Given the description of an element on the screen output the (x, y) to click on. 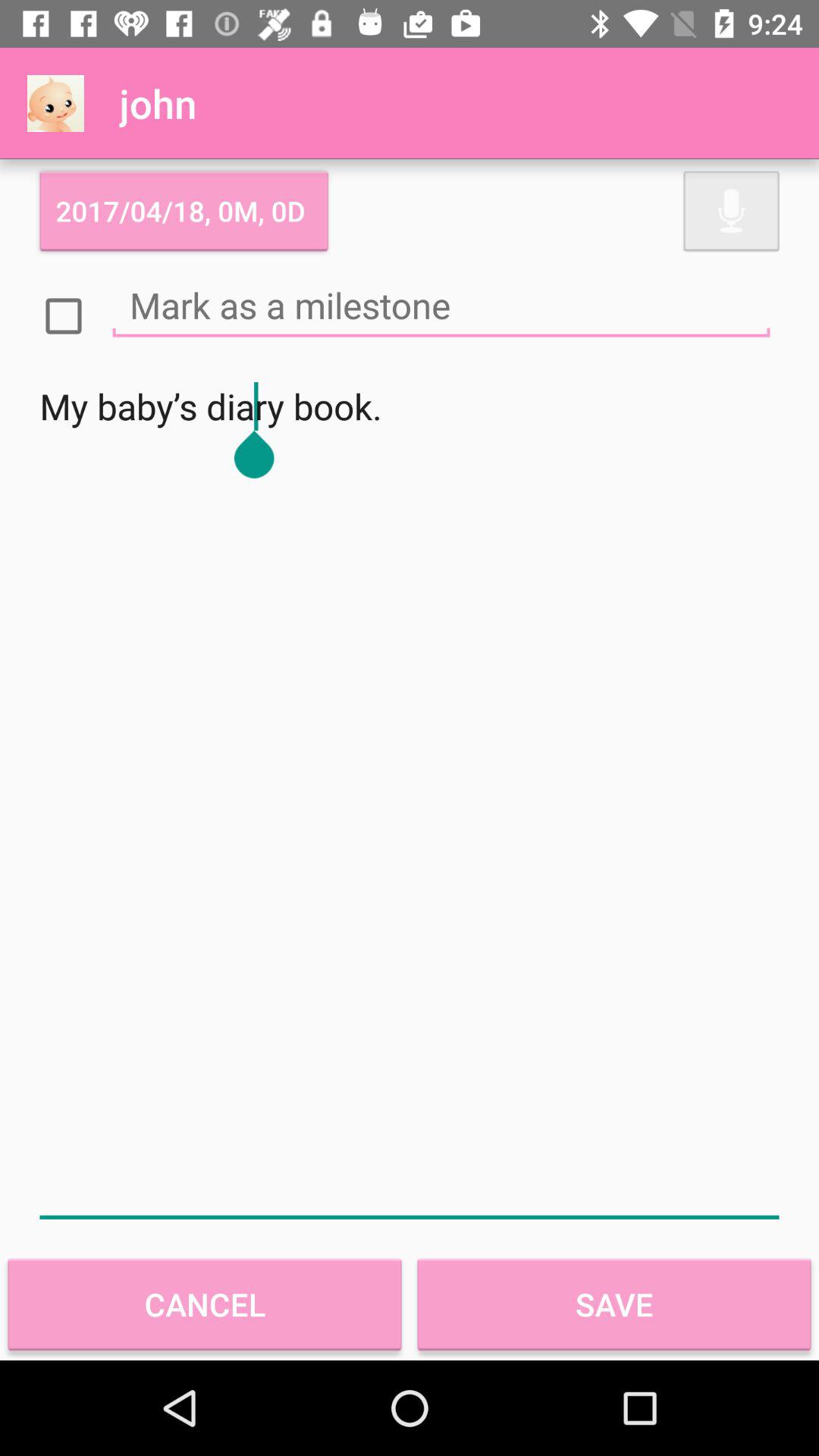
press the item next to save icon (204, 1304)
